Given the description of an element on the screen output the (x, y) to click on. 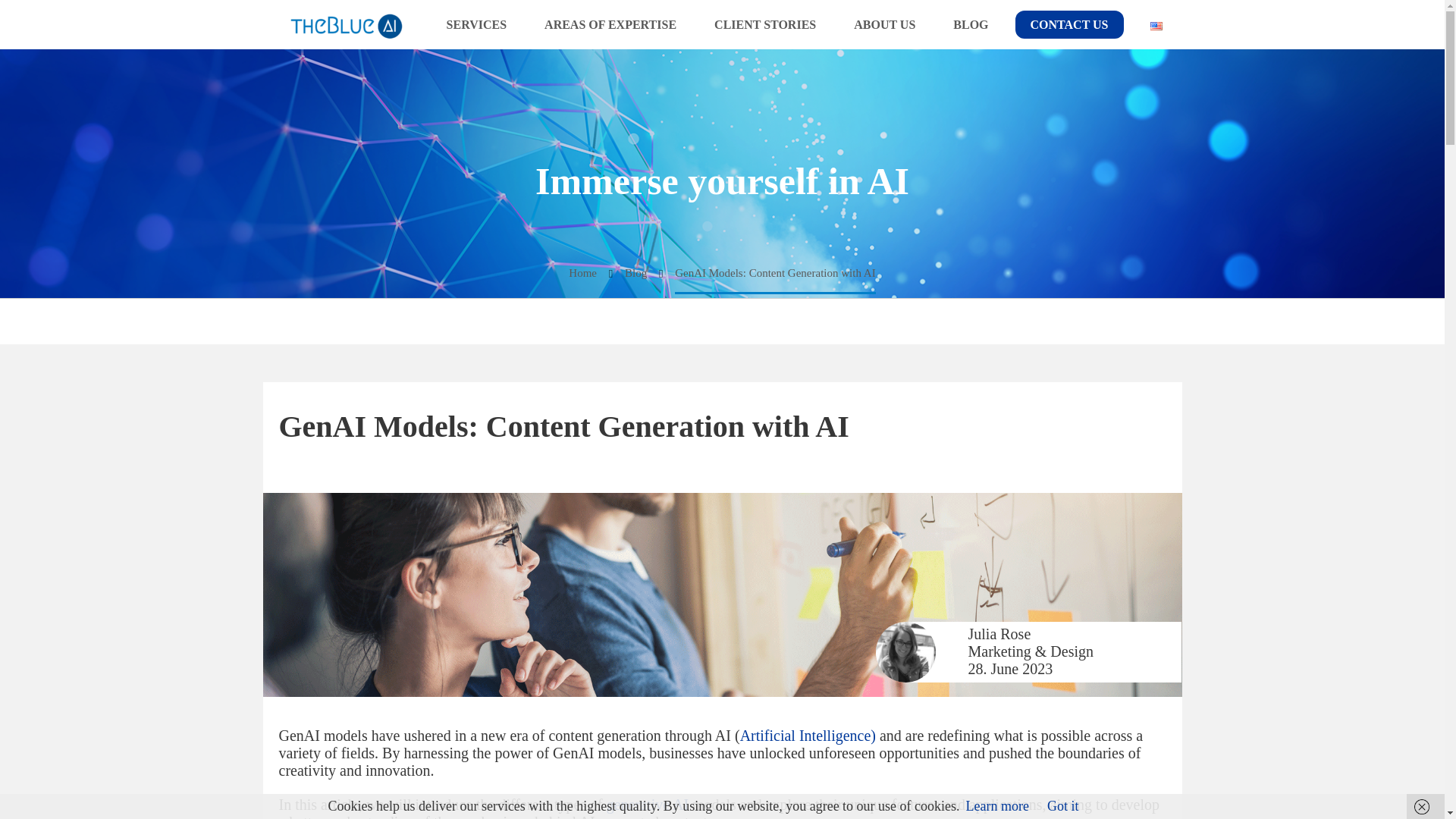
JuliaRose (905, 651)
generative AI (647, 804)
ABOUT US (884, 24)
Blog (635, 272)
BLOG (970, 24)
CLIENT STORIES (765, 24)
SERVICES (476, 24)
CONTACT US (1069, 24)
AREAS OF EXPERTISE (609, 24)
Home (582, 272)
